Given the description of an element on the screen output the (x, y) to click on. 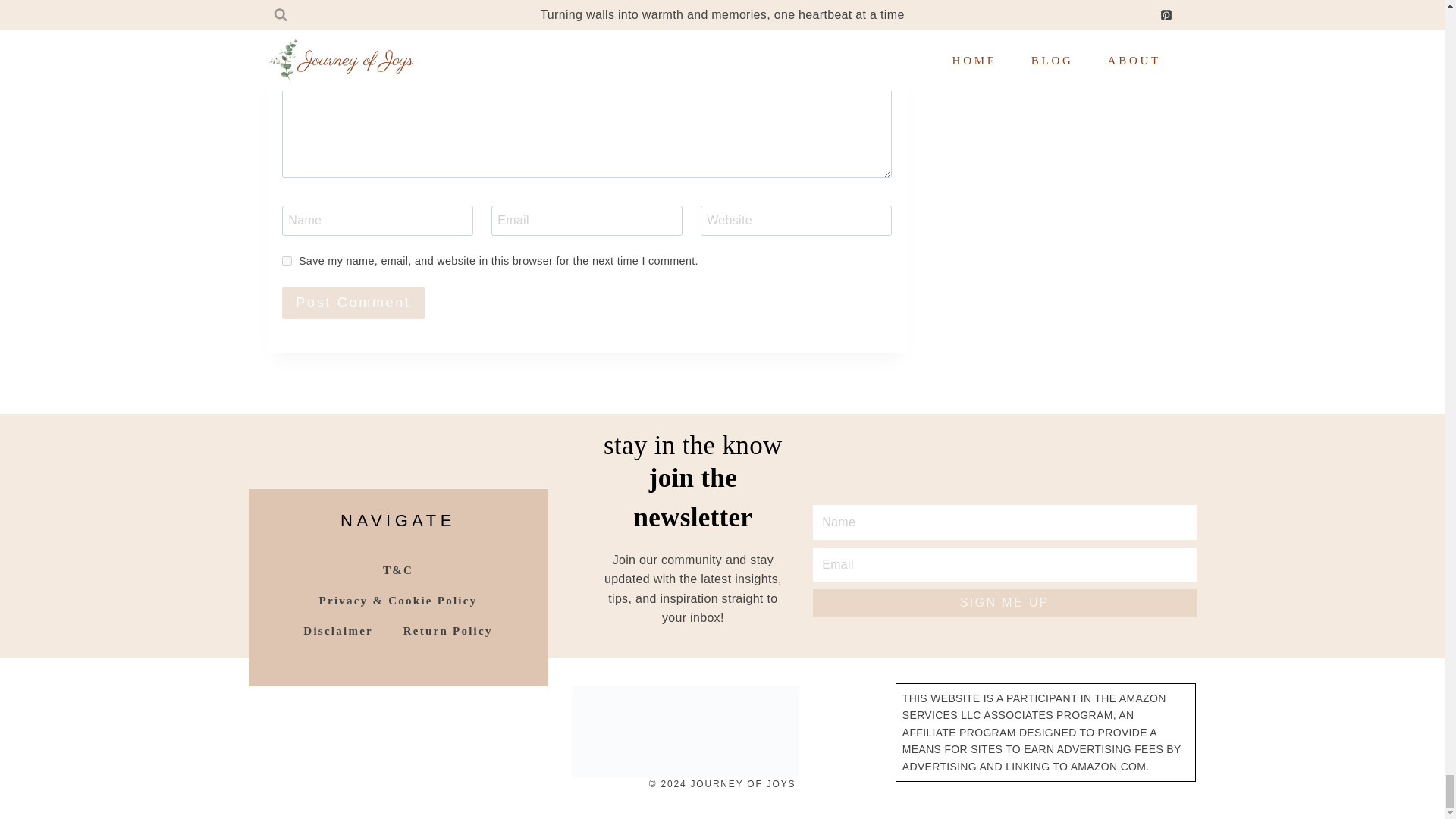
yes (287, 261)
Post Comment (352, 302)
